Given the description of an element on the screen output the (x, y) to click on. 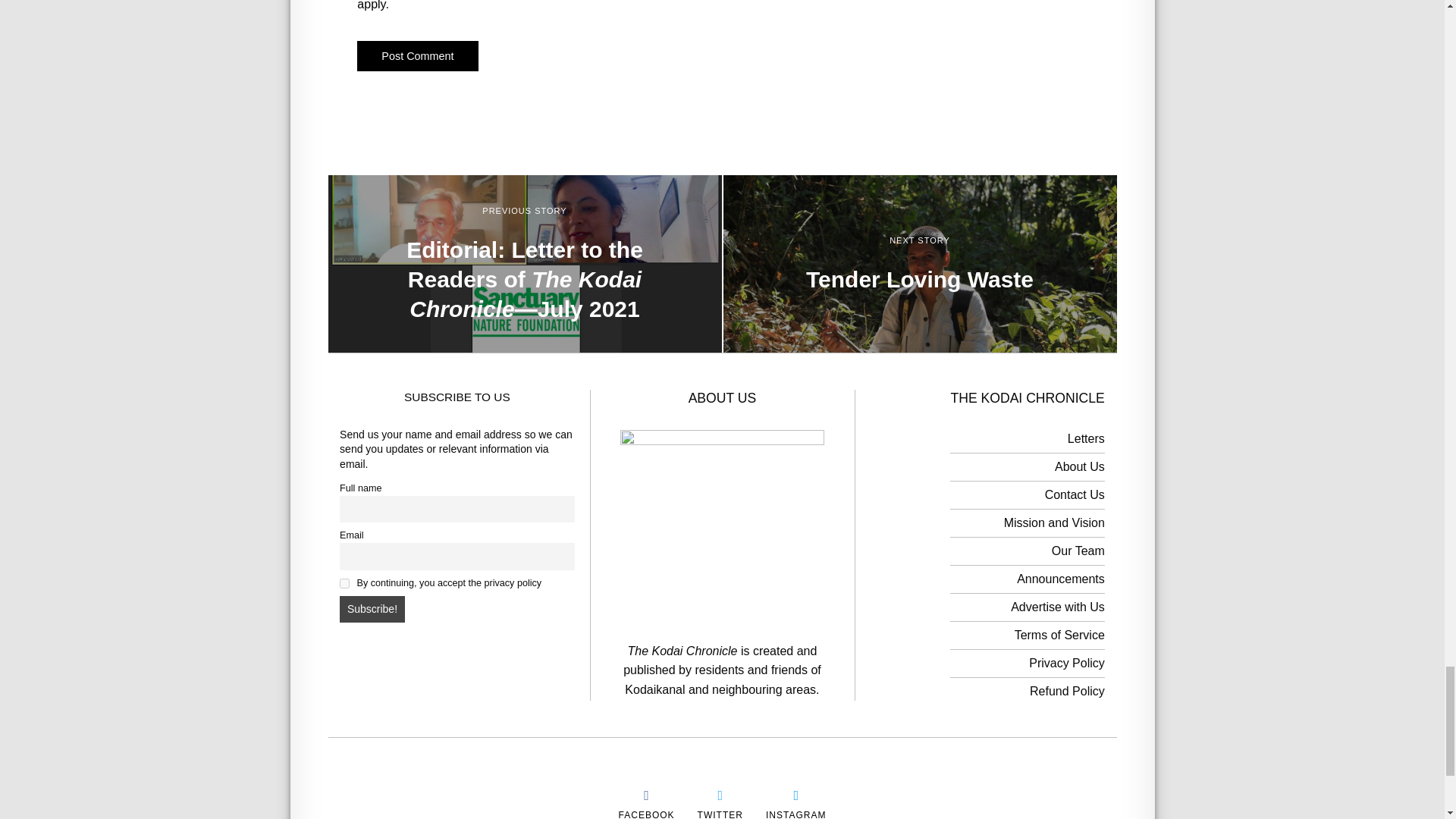
Facebook (646, 813)
Facebook (646, 795)
on (344, 583)
Twitter (720, 813)
Instagram (795, 795)
Instagram (795, 813)
Subscribe! (371, 609)
Twitter (720, 795)
Post Comment (416, 55)
